Given the description of an element on the screen output the (x, y) to click on. 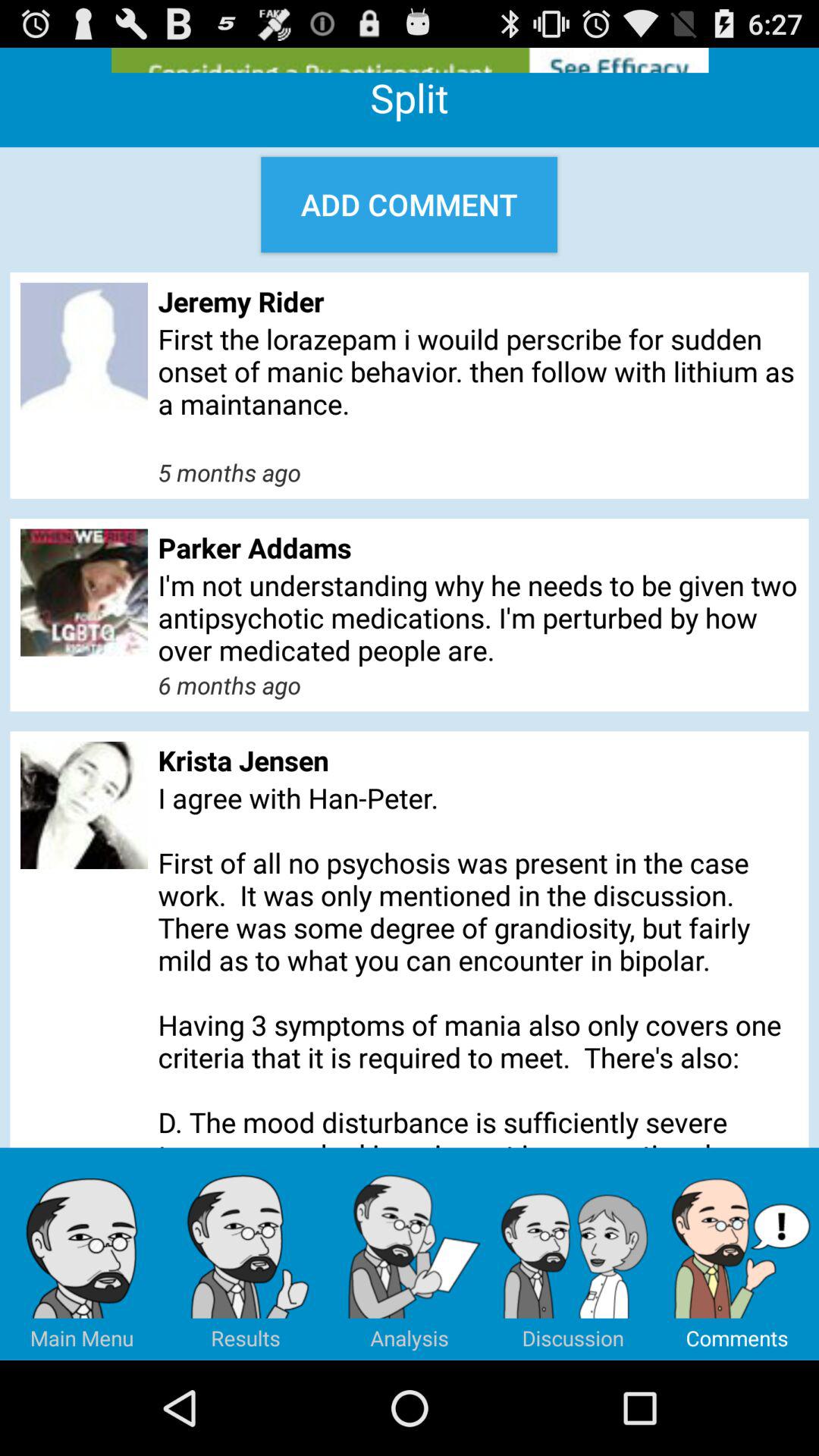
launch the item below 5 months ago (478, 547)
